Given the description of an element on the screen output the (x, y) to click on. 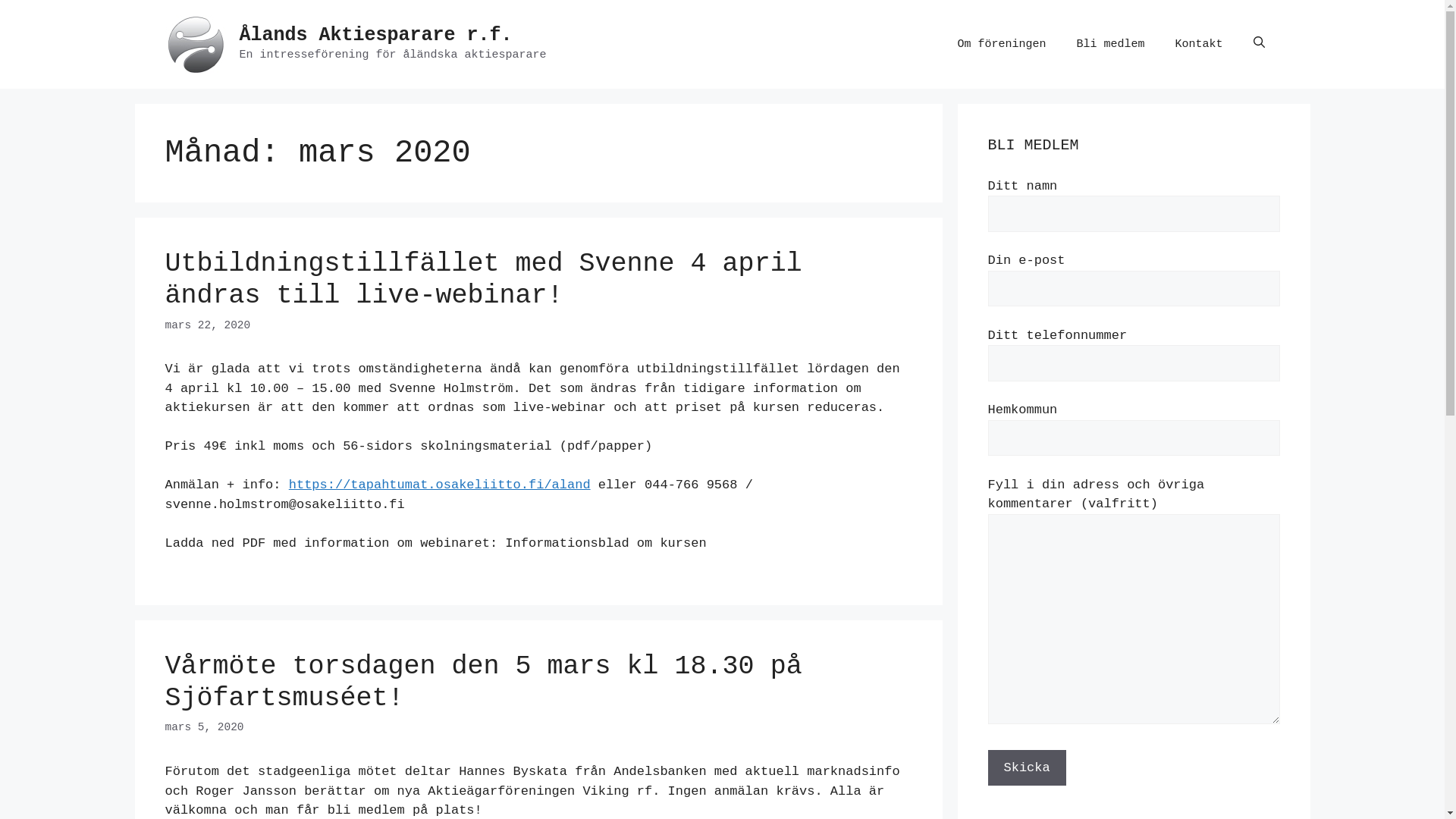
Kontakt Element type: text (1198, 43)
Skicka Element type: text (1026, 767)
Bli medlem Element type: text (1109, 43)
https://tapahtumat.osakeliitto.fi/aland Element type: text (439, 484)
